Given the description of an element on the screen output the (x, y) to click on. 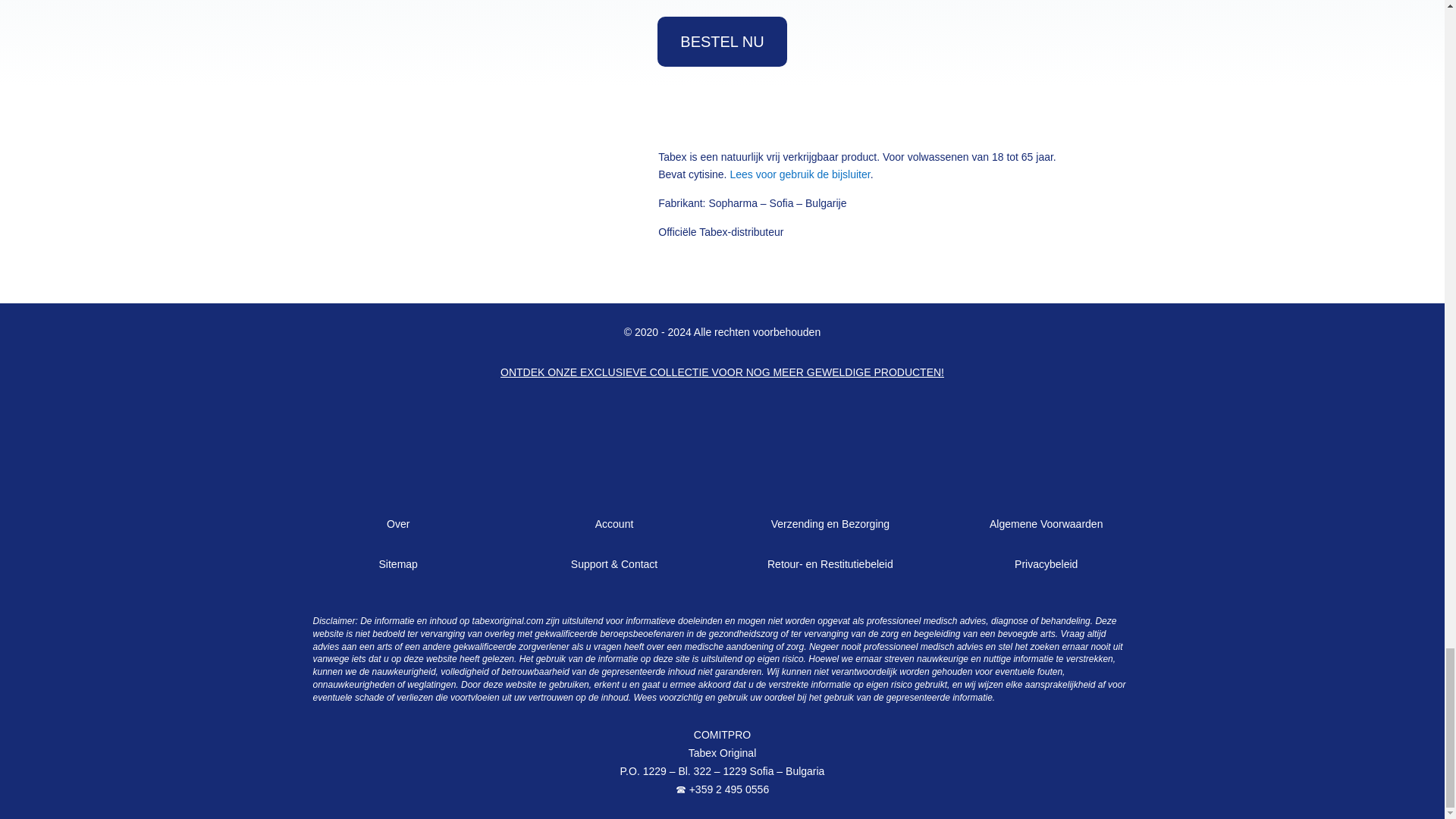
Lees voor gebruik de bijsluiter (799, 174)
BESTEL NU (722, 41)
Tabex-logo (458, 189)
